Given the description of an element on the screen output the (x, y) to click on. 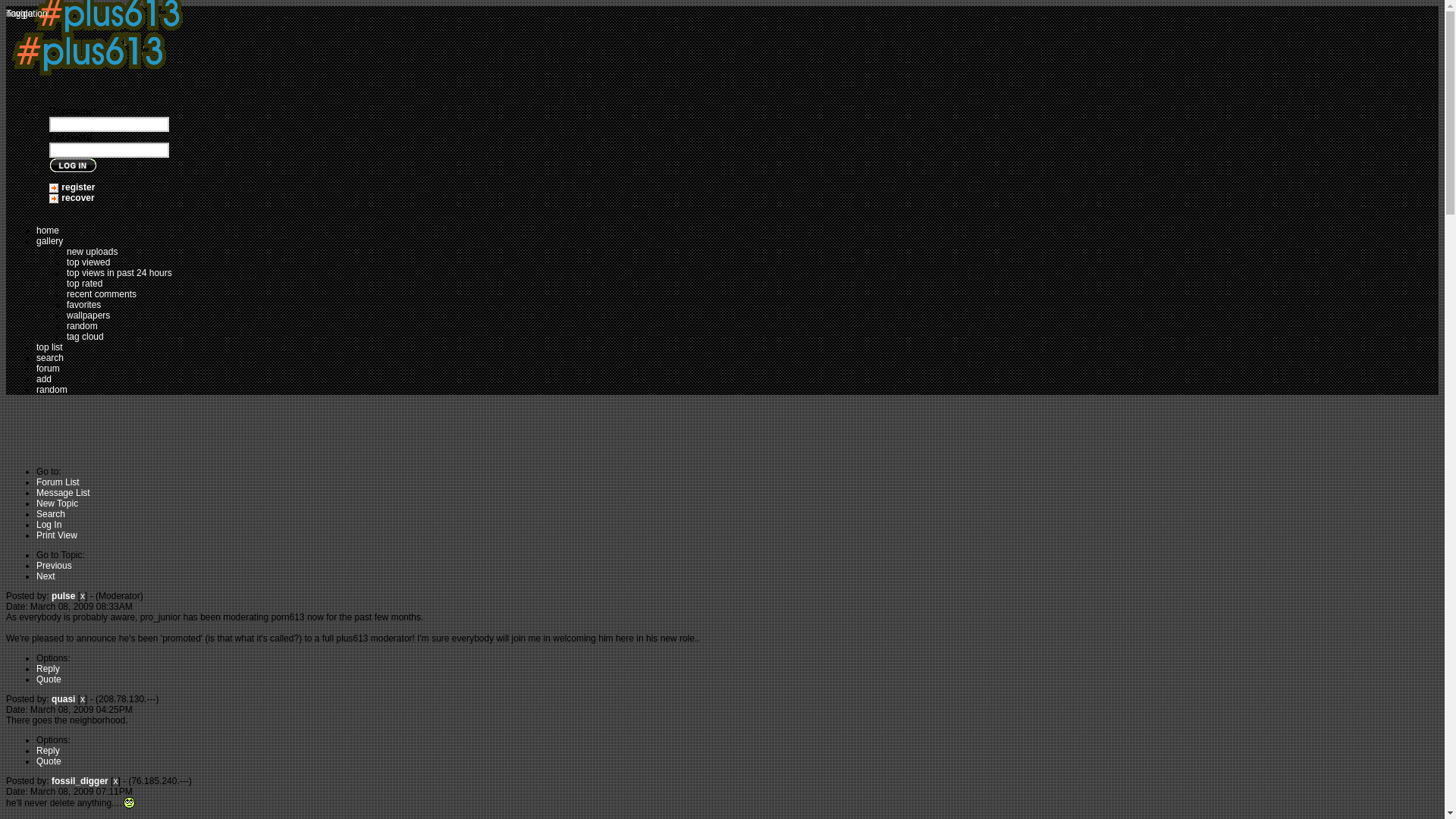
random (51, 389)
top viewed (88, 262)
new uploads (91, 251)
search (50, 357)
Previous (53, 565)
New Topic (57, 502)
Message List (63, 492)
eye rolling smiley (129, 802)
Reply (47, 750)
Print View (56, 534)
Quote (48, 760)
recover (77, 197)
quasi (62, 698)
top list (49, 347)
random (81, 326)
